Given the description of an element on the screen output the (x, y) to click on. 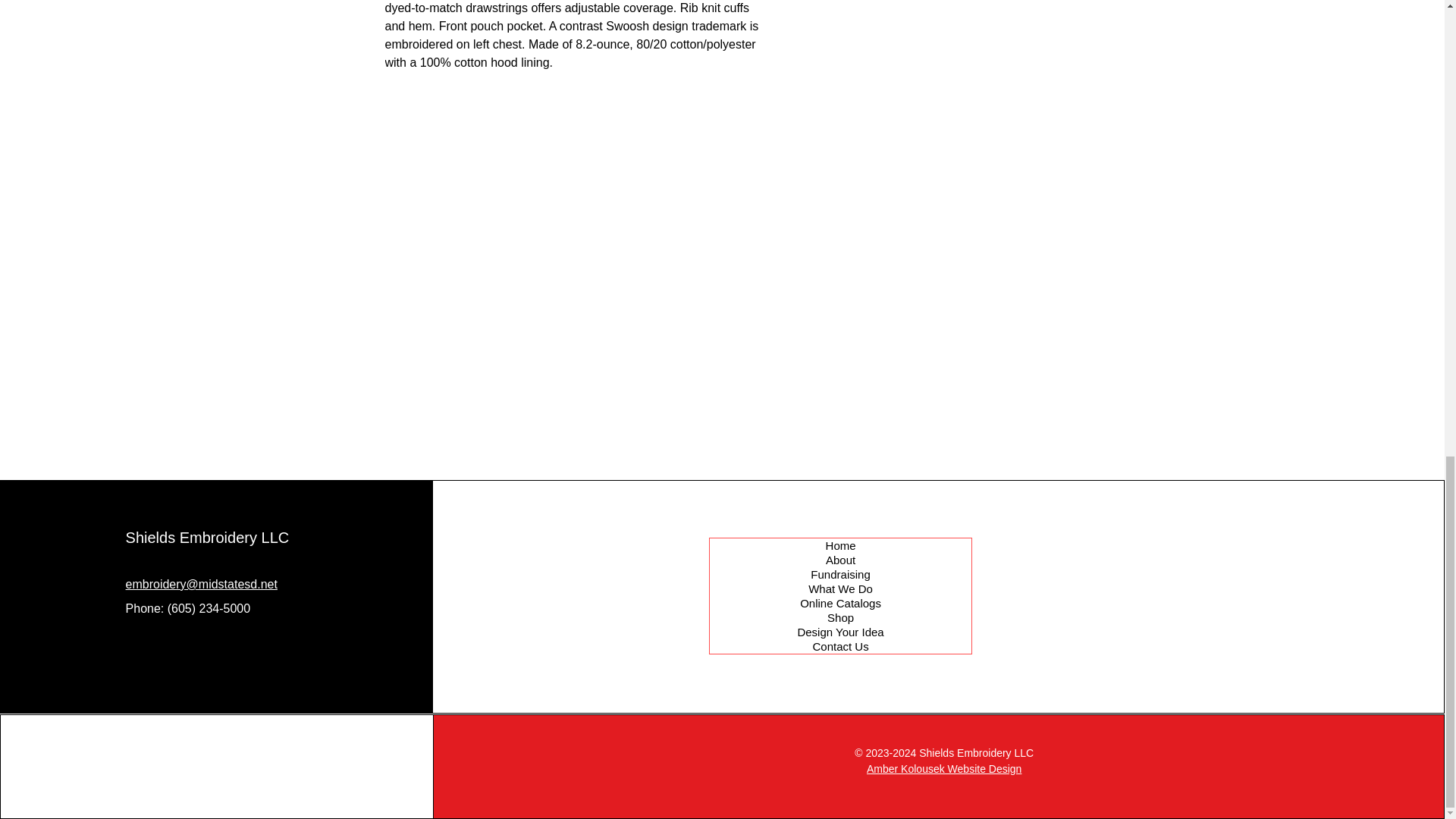
Home (840, 545)
Contact Us (840, 646)
Shields Embroidery LLC (207, 537)
About (840, 559)
What We Do (840, 588)
Shop (840, 617)
Online Catalogs (840, 603)
Fundraising (840, 574)
Design Your Idea (840, 631)
